Given the description of an element on the screen output the (x, y) to click on. 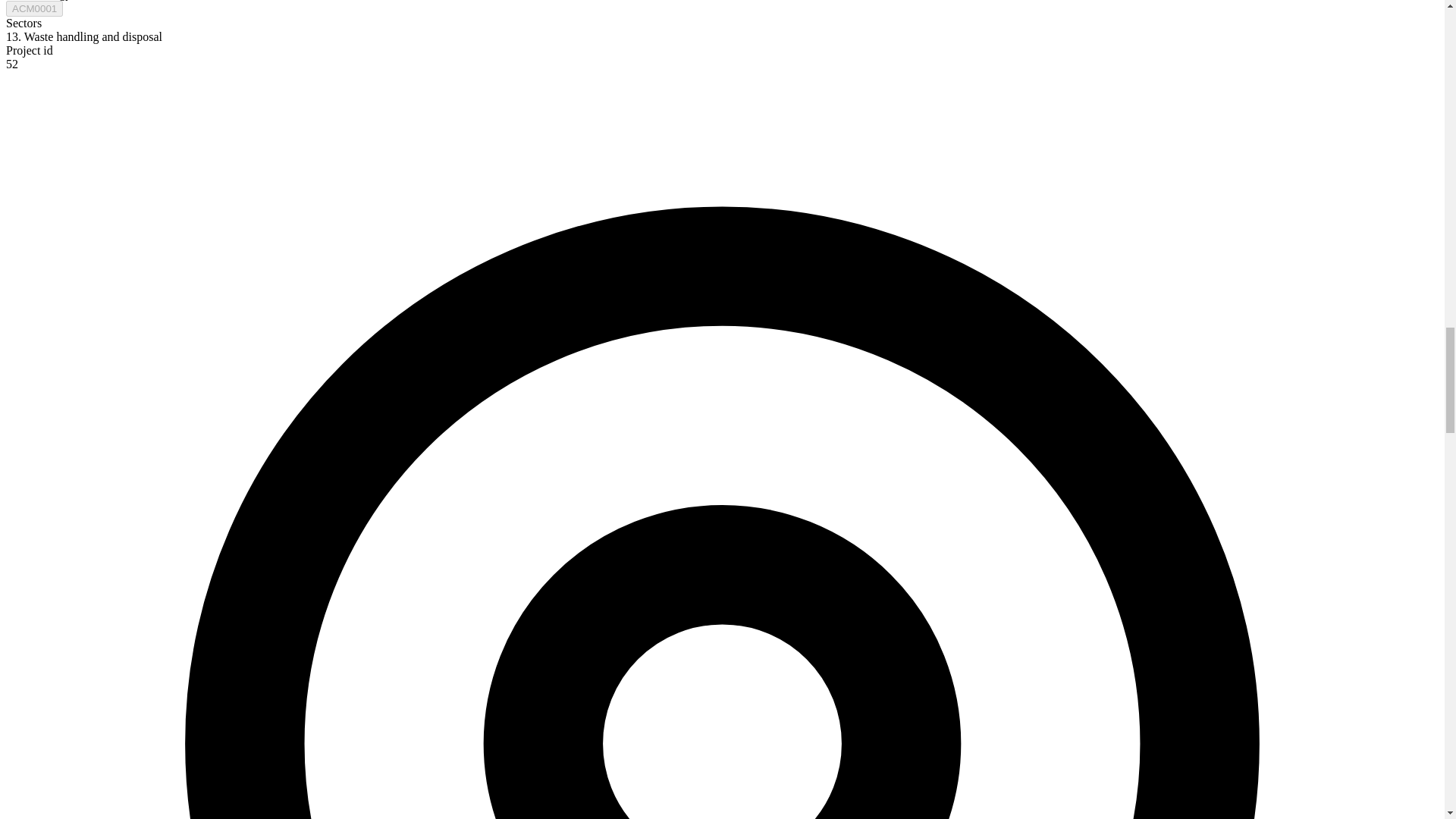
Explore (541, 687)
Terms of Service (991, 687)
About (324, 687)
Cookie Policy (983, 748)
Contact us (337, 717)
Subscribe (637, 470)
Help Center (765, 687)
Pricing (540, 717)
Privacy Policy (984, 717)
FAQs (748, 748)
